Given the description of an element on the screen output the (x, y) to click on. 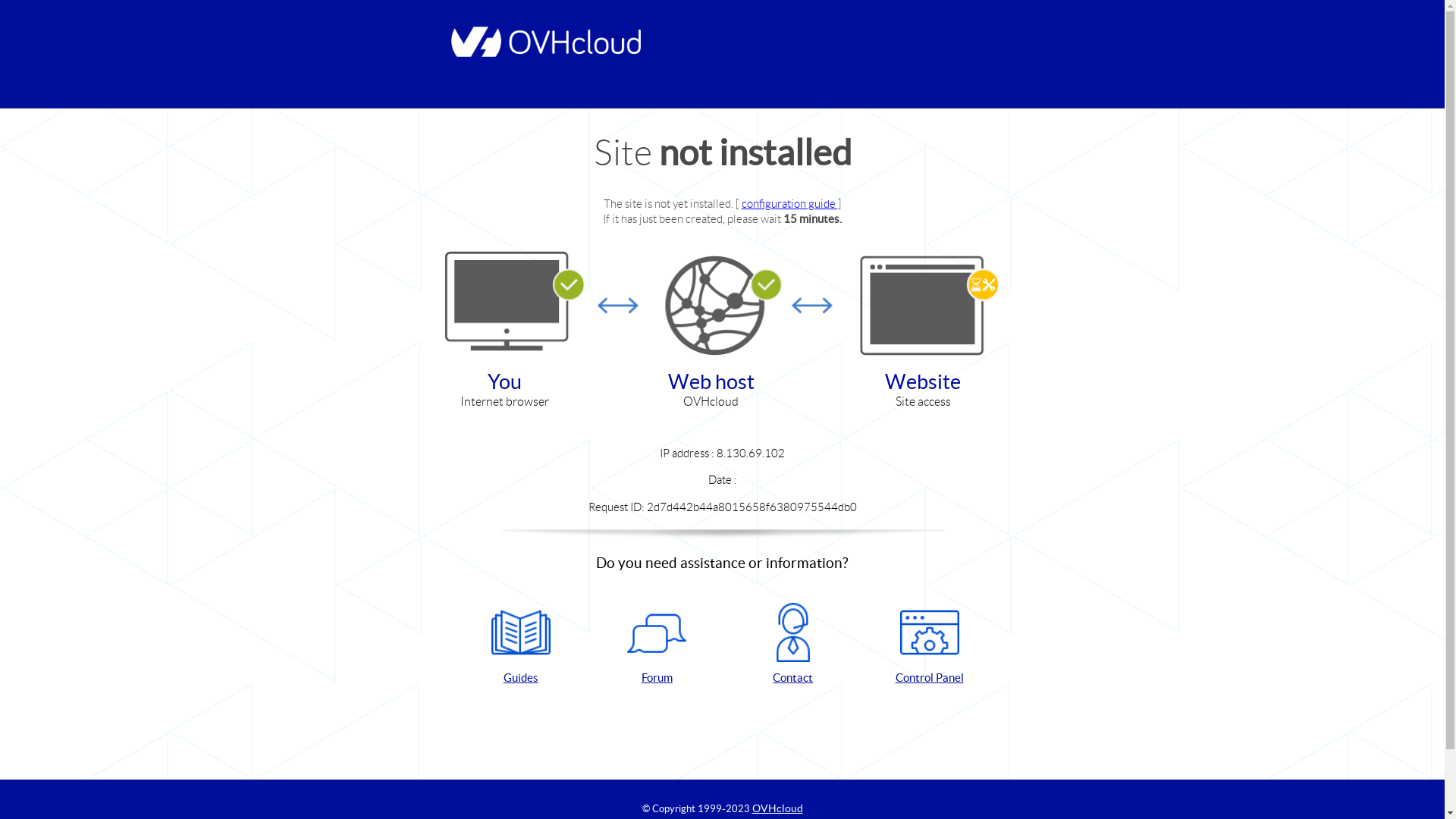
Contact Element type: text (792, 644)
OVHcloud Element type: text (777, 808)
Guides Element type: text (520, 644)
configuration guide Element type: text (789, 203)
Forum Element type: text (656, 644)
Control Panel Element type: text (929, 644)
